Given the description of an element on the screen output the (x, y) to click on. 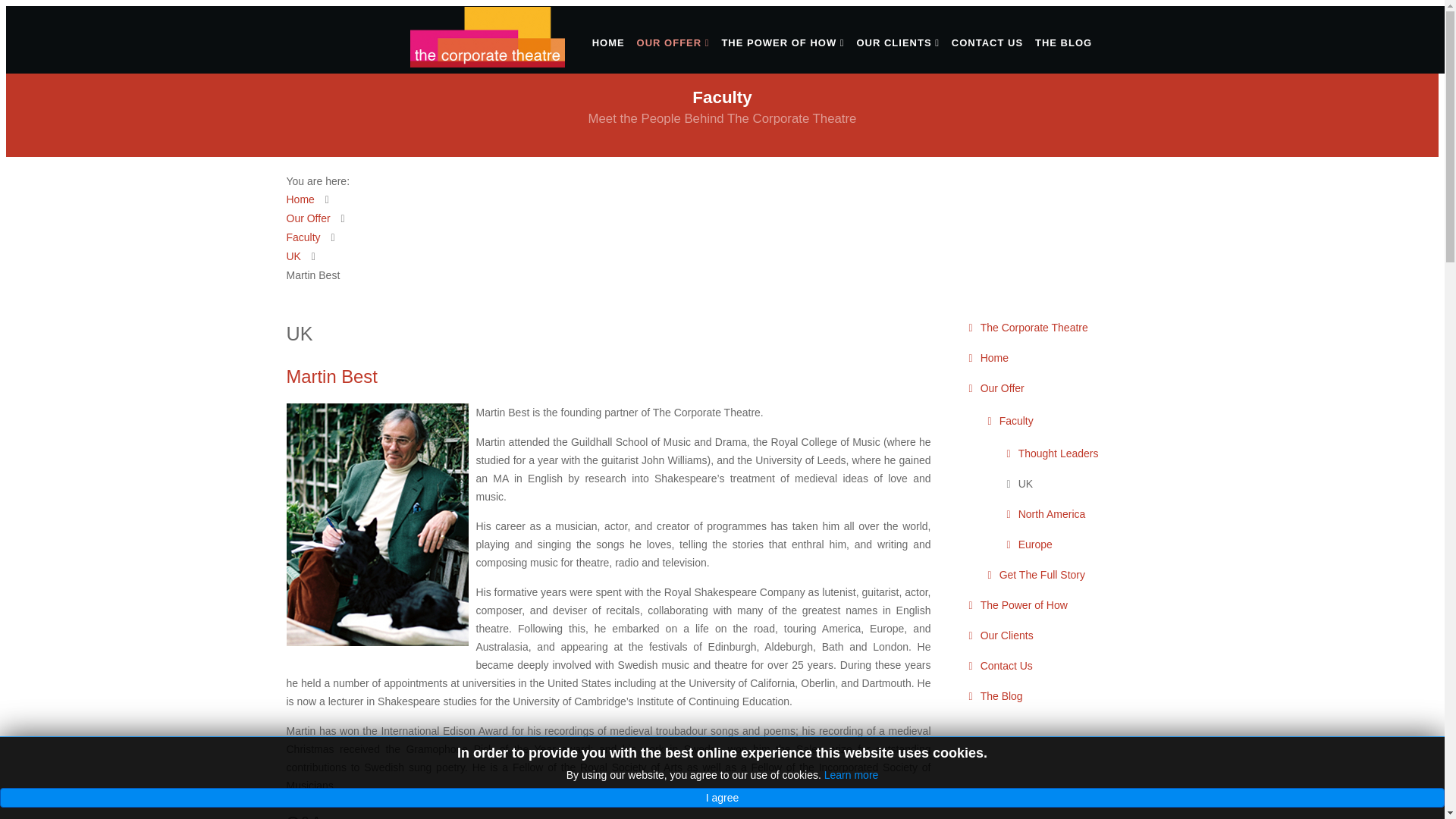
Contact Us (1062, 665)
North America (1081, 514)
The Power of How (1062, 605)
THE BLOG (1063, 42)
The Corporate Theatre (1062, 327)
THE POWER OF HOW (782, 42)
UK (293, 256)
Faculty (303, 236)
Home (1062, 357)
Get The Full Story (1073, 574)
